Given the description of an element on the screen output the (x, y) to click on. 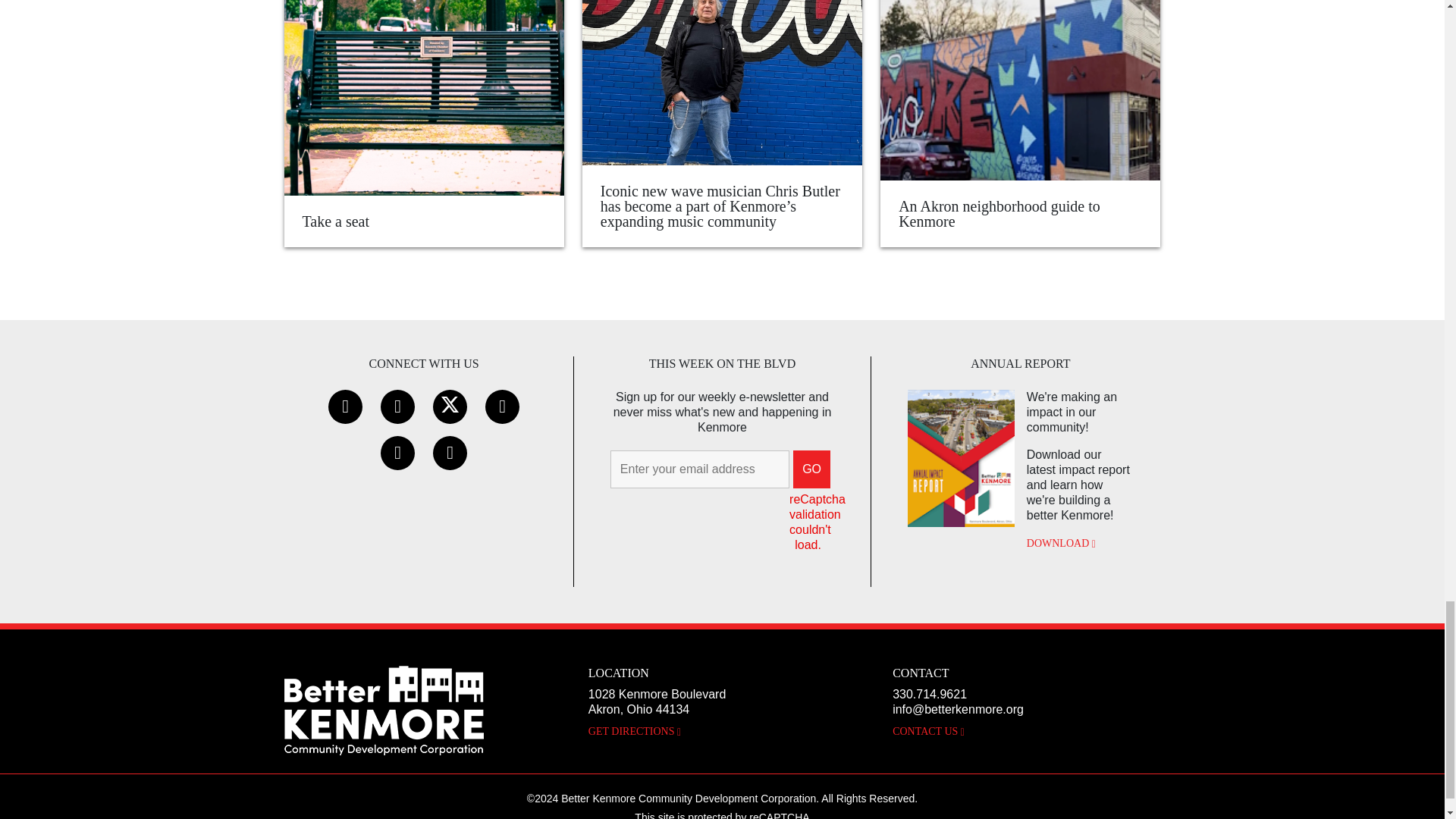
GO (811, 469)
